Given the description of an element on the screen output the (x, y) to click on. 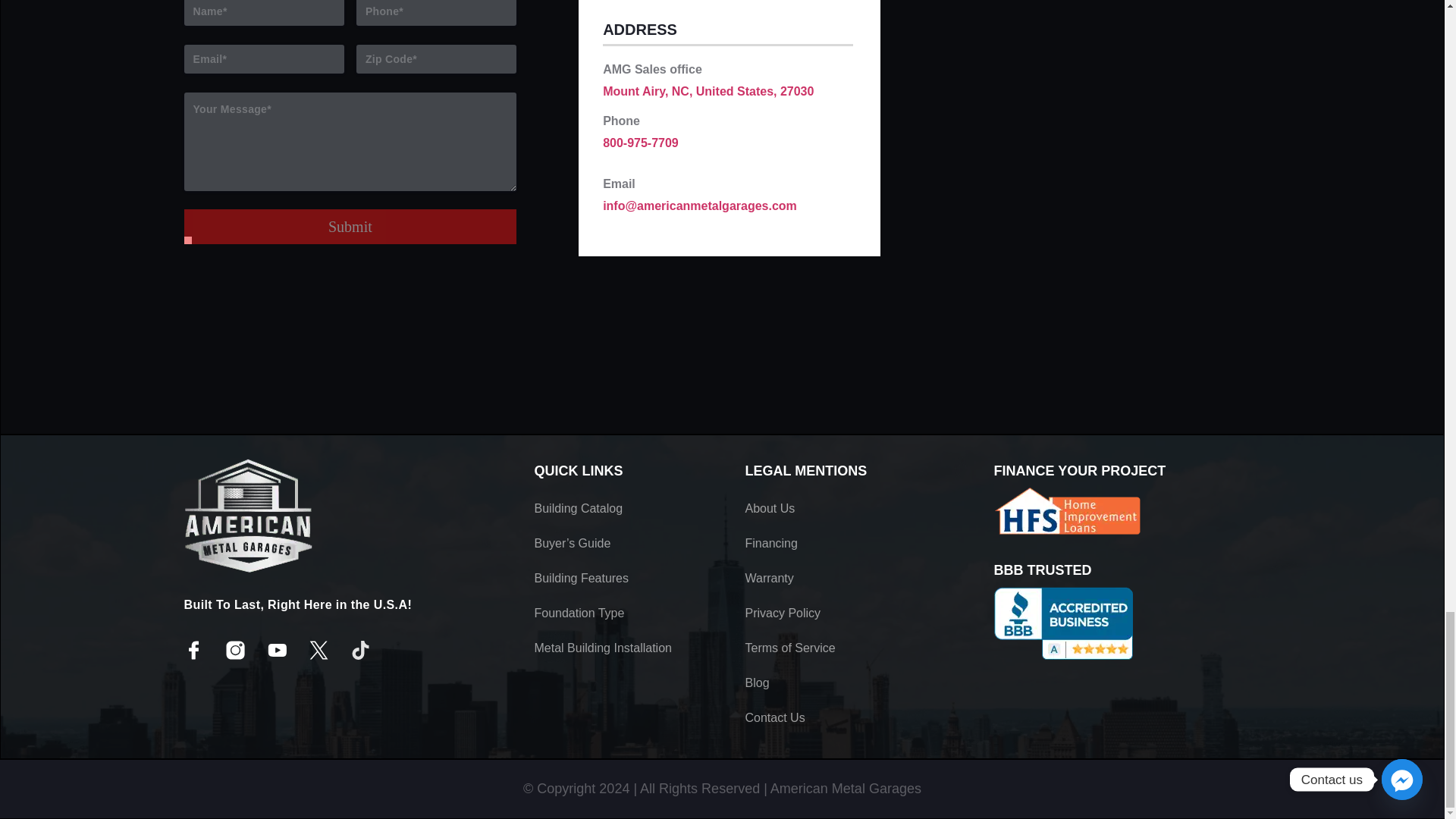
Submit (349, 226)
800-975-7709 (640, 142)
Submit (349, 226)
Mount Airy, NC, United States, 27030 (707, 91)
